Given the description of an element on the screen output the (x, y) to click on. 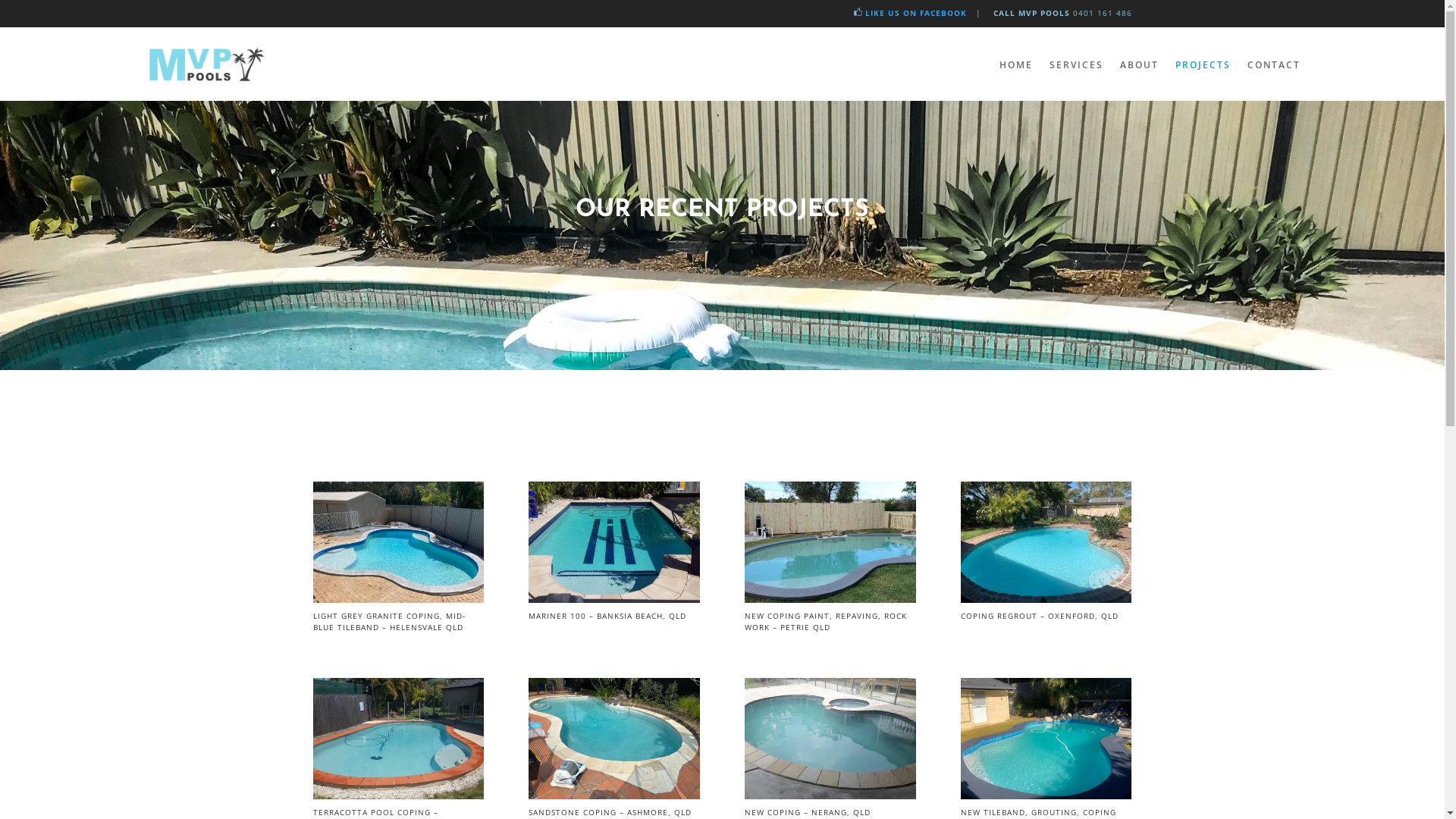
SERVICES Element type: text (1076, 65)
PROJECTS Element type: text (1202, 65)
LIKE US ON Element type: text (890, 12)
FACEBOOK Element type: text (941, 12)
Coping Regrout - Oxenford, QLD Element type: hover (1045, 598)
CONTACT Element type: text (1272, 65)
New coping - Nerang, QLD Element type: hover (829, 794)
HOME Element type: text (1015, 65)
Mariner 100 - Banksia Beach, QLD Element type: hover (613, 598)
New coping paint, repaving, rock work - Petrie QLD Element type: hover (829, 598)
ABOUT Element type: text (1138, 65)
New Tileband, Grouting, Coping Paint - Middle Park, QLD Element type: hover (1045, 794)
Terracotta Pool Coping - Ashmore, QLD Element type: hover (397, 794)
Sandstone Coping - Ashmore, QLD Element type: hover (613, 794)
